Given the description of an element on the screen output the (x, y) to click on. 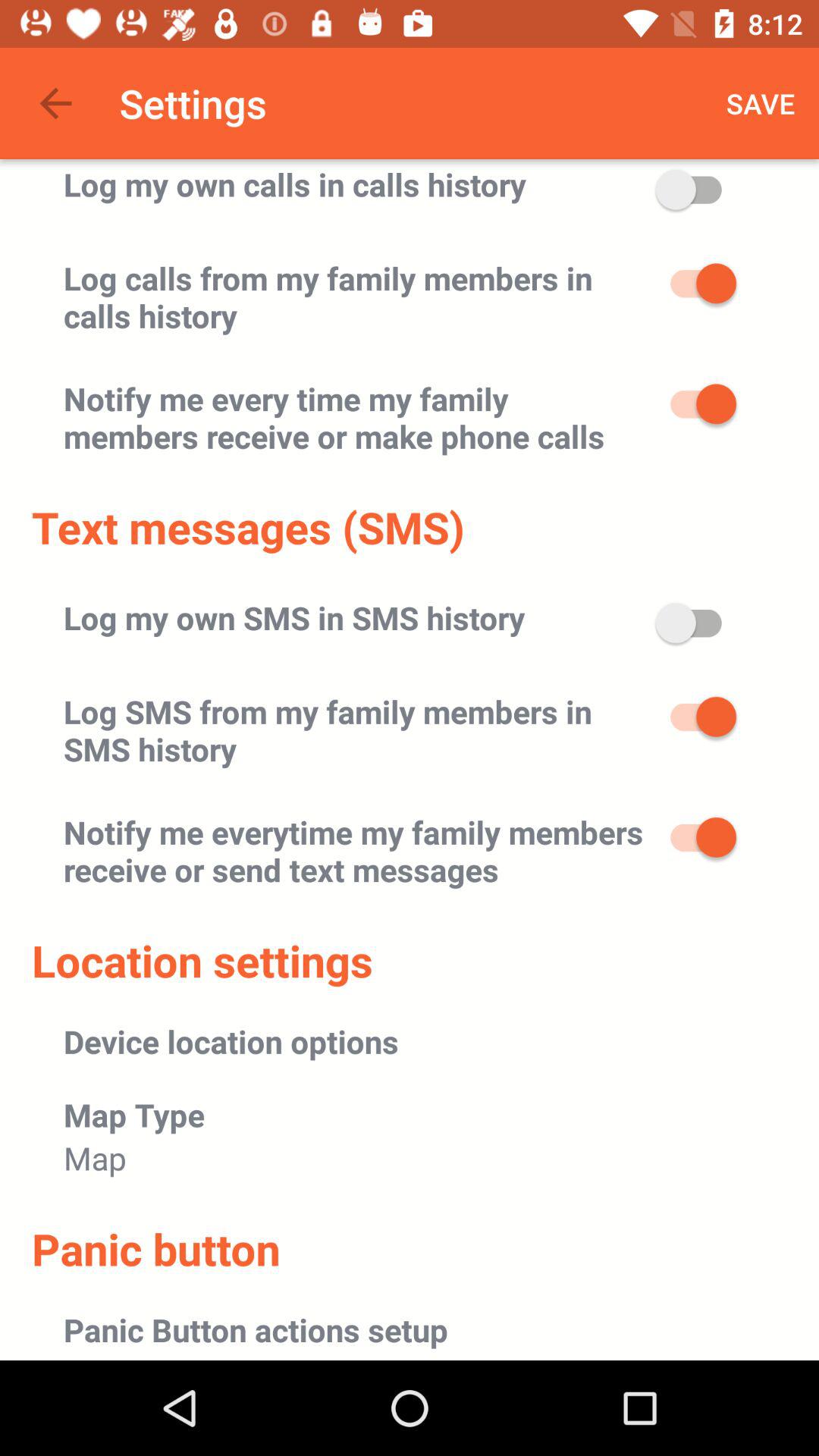
click the item above the map type item (230, 1040)
